Given the description of an element on the screen output the (x, y) to click on. 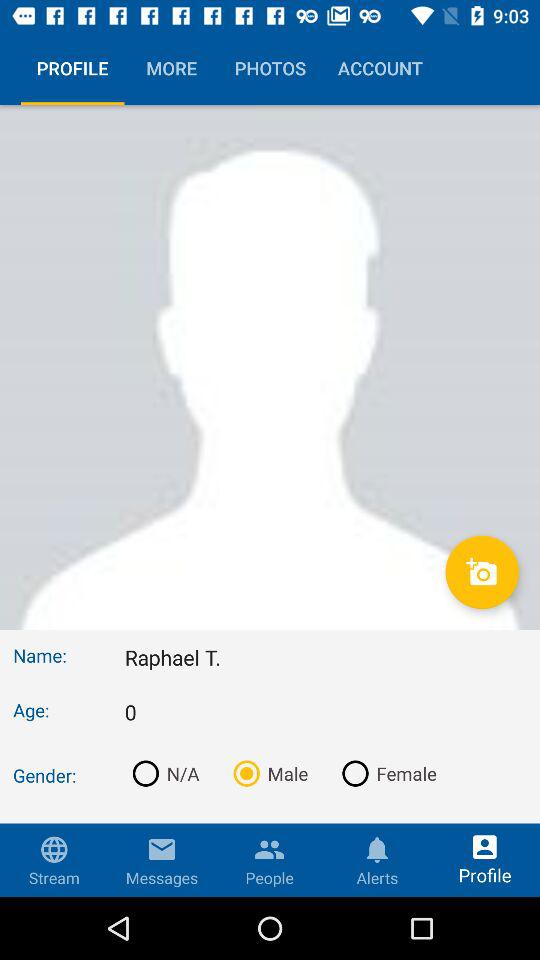
press item below 0 (161, 773)
